Given the description of an element on the screen output the (x, y) to click on. 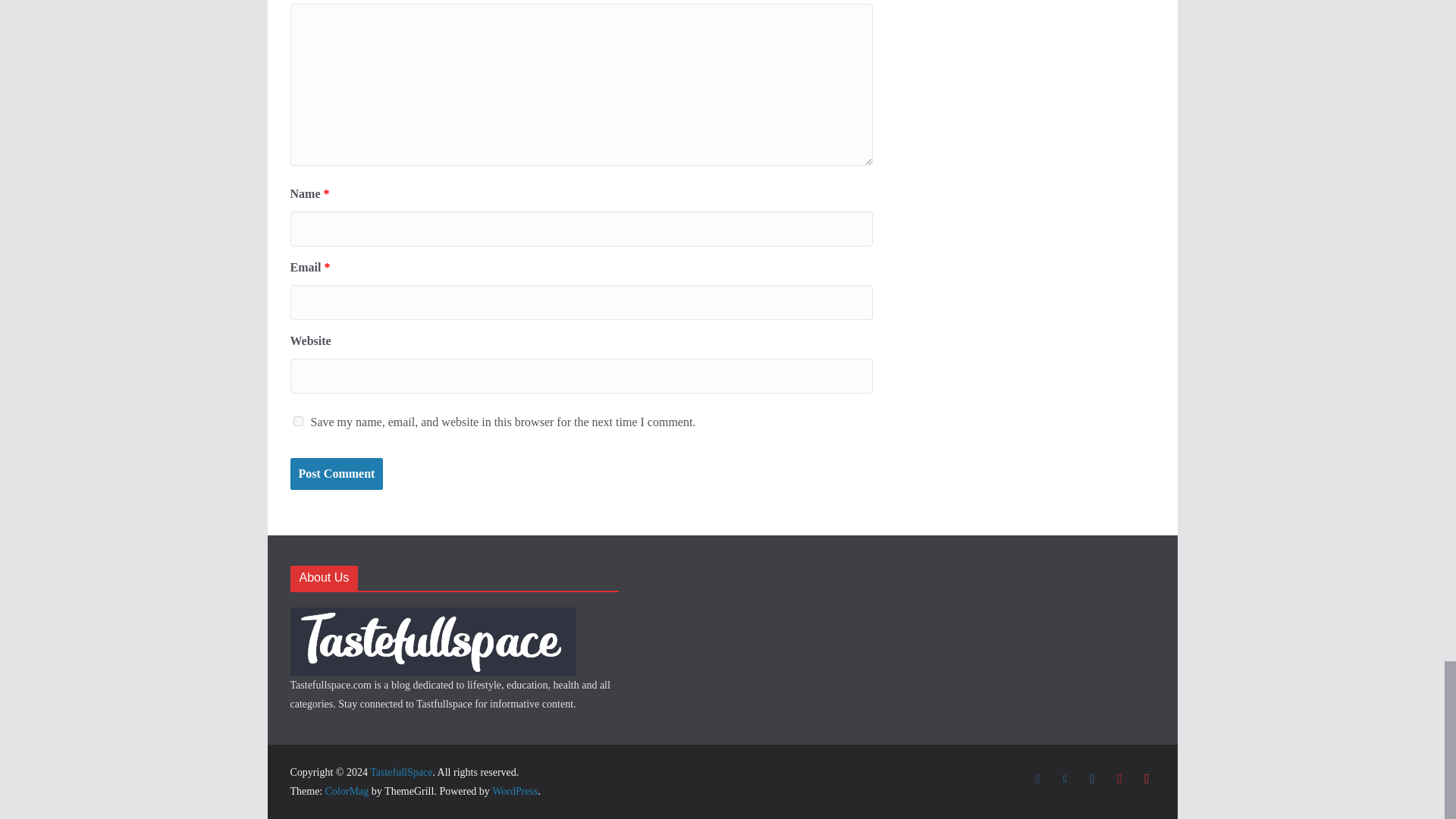
yes (297, 420)
Post Comment (335, 473)
